Given the description of an element on the screen output the (x, y) to click on. 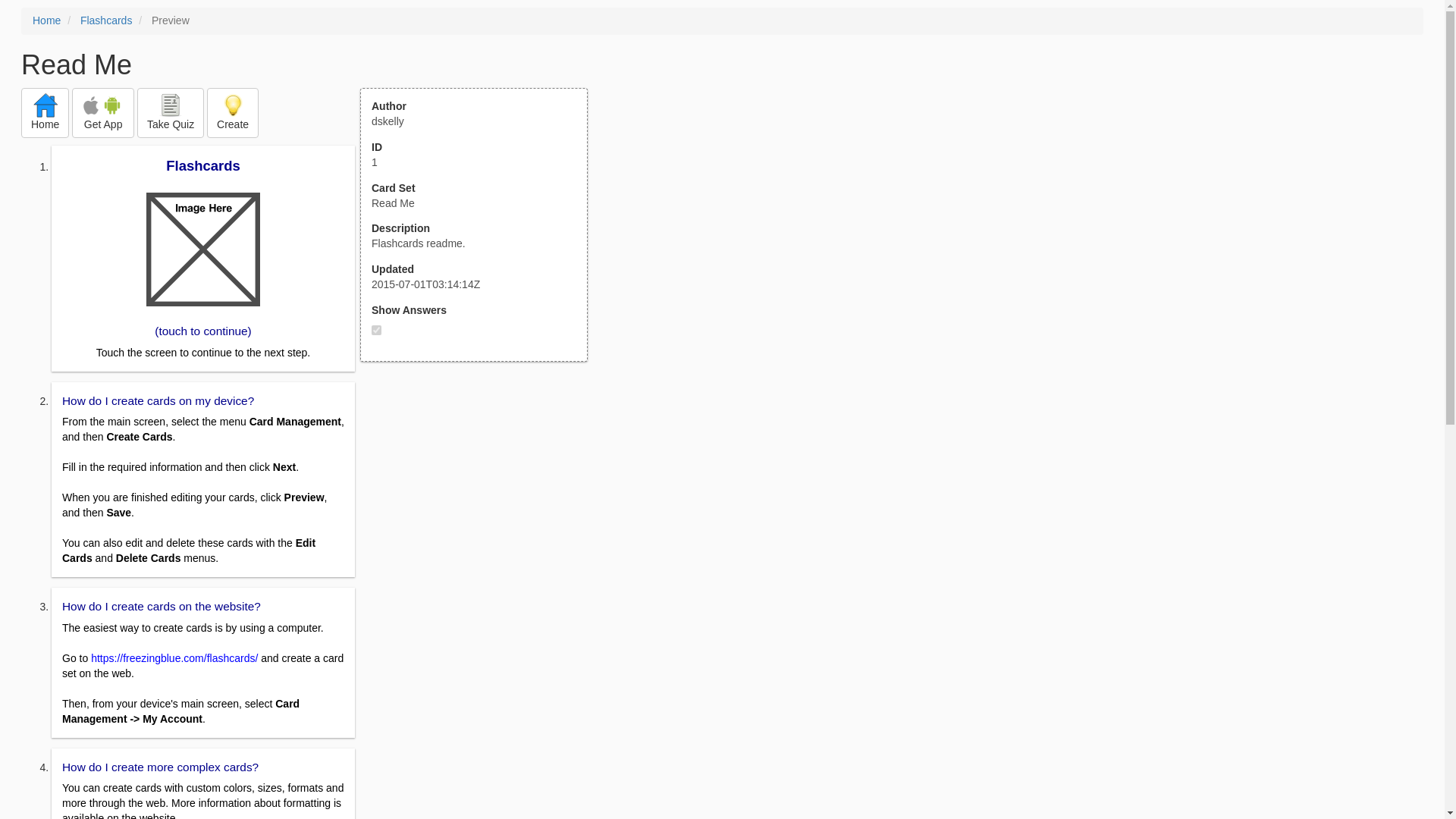
Create (232, 112)
Download the mobile app (102, 112)
Get App (102, 112)
Flashcards (106, 20)
Go to home page (44, 112)
Create your own card sets (232, 112)
Home (44, 112)
on (376, 329)
Take Quiz (169, 112)
Home (46, 20)
